Given the description of an element on the screen output the (x, y) to click on. 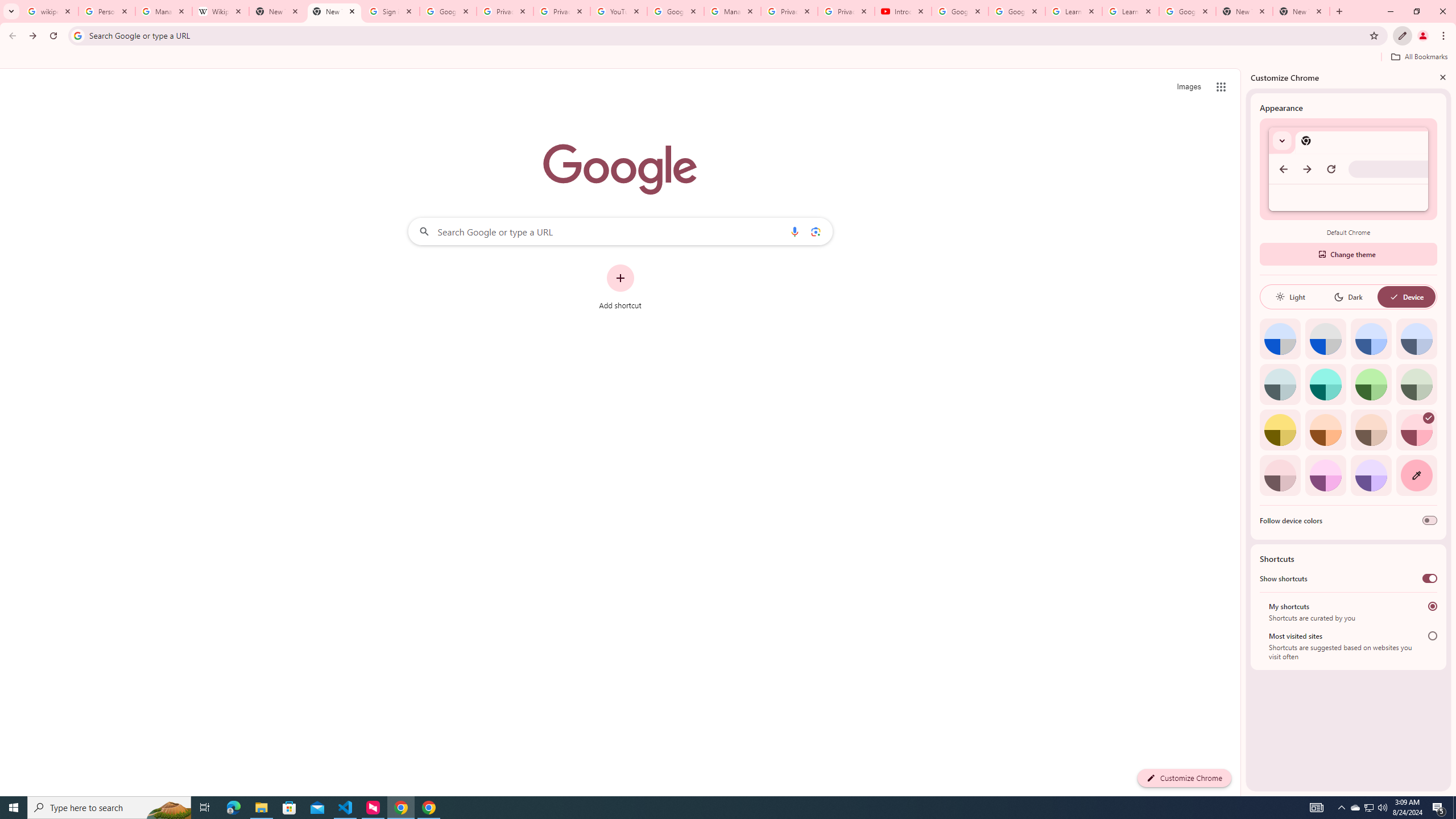
New Tab (1301, 11)
Default color (1279, 338)
YouTube (618, 11)
Grey default color (1325, 338)
Add shortcut (620, 287)
Search Google or type a URL (619, 230)
Side Panel Resize Handle (1242, 431)
Green (1371, 383)
Introduction | Google Privacy Policy - YouTube (902, 11)
Google Account Help (1015, 11)
